Given the description of an element on the screen output the (x, y) to click on. 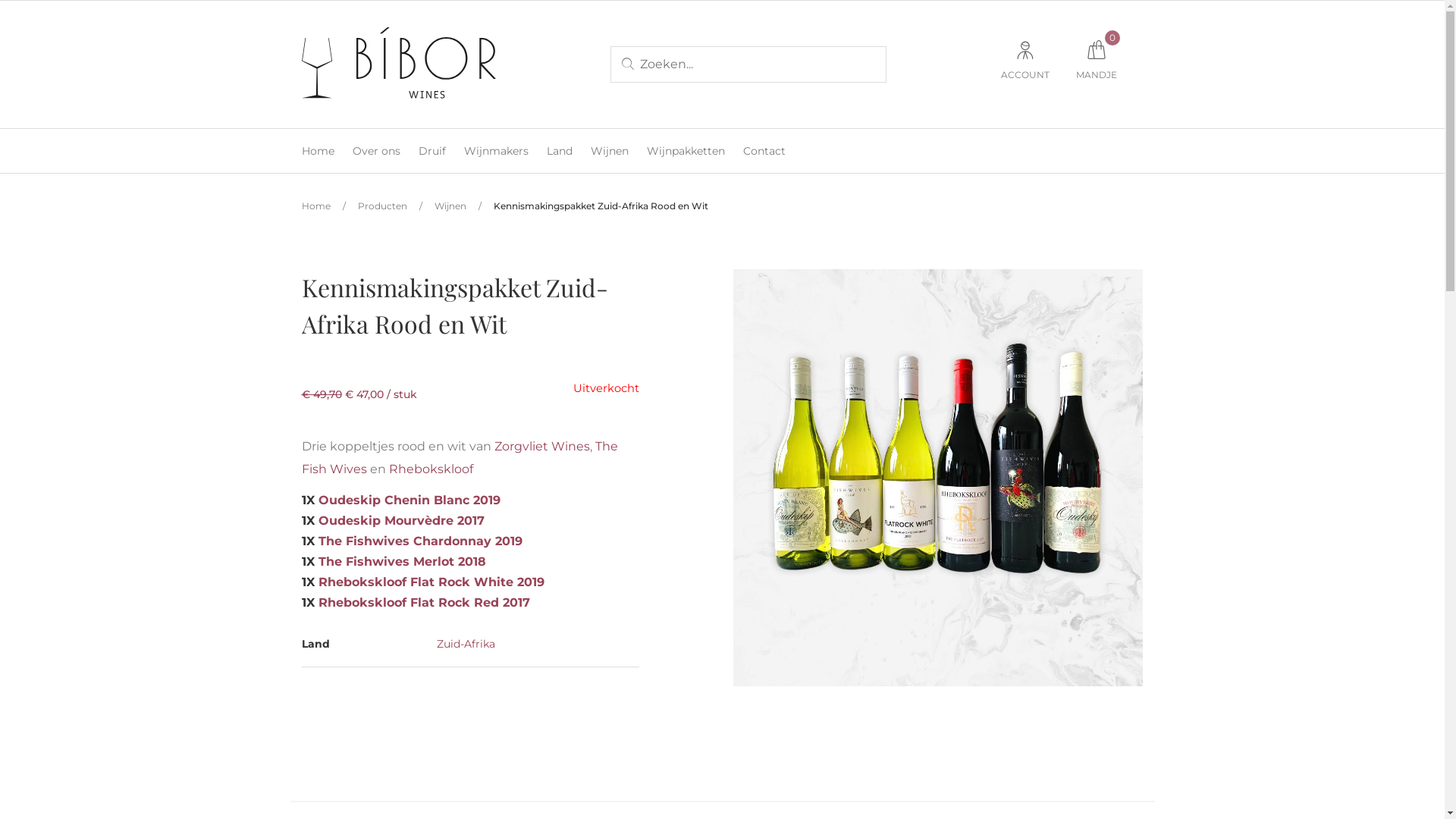
The Fish Wives Element type: text (459, 457)
ACCOUNT Element type: text (1025, 64)
0
MANDJE Element type: text (1095, 64)
The Fishwives Chardonnay 2019 Element type: text (420, 540)
Druif Element type: text (431, 150)
Rhebokskloof Flat Rock White 2019 Element type: text (431, 581)
Oudeskip Chenin Blanc 2019 Element type: text (409, 499)
Land Element type: text (558, 150)
Producten Element type: text (382, 205)
Wijnen Element type: text (449, 205)
Contact Element type: text (764, 150)
Zorgvliet Wines Element type: text (541, 446)
Wijnen Element type: text (608, 150)
Zuid-Afrika Element type: text (465, 643)
Wijnmakers Element type: text (496, 150)
Home Element type: text (317, 150)
Home Element type: text (315, 205)
The Fishwives Merlot 2018 Element type: text (402, 561)
Rhebokskloof Element type: text (430, 468)
Rhebokskloof Flat Rock Red 2017 Element type: text (424, 602)
Over ons Element type: text (375, 150)
Wijnpakketten Element type: text (685, 150)
